Given the description of an element on the screen output the (x, y) to click on. 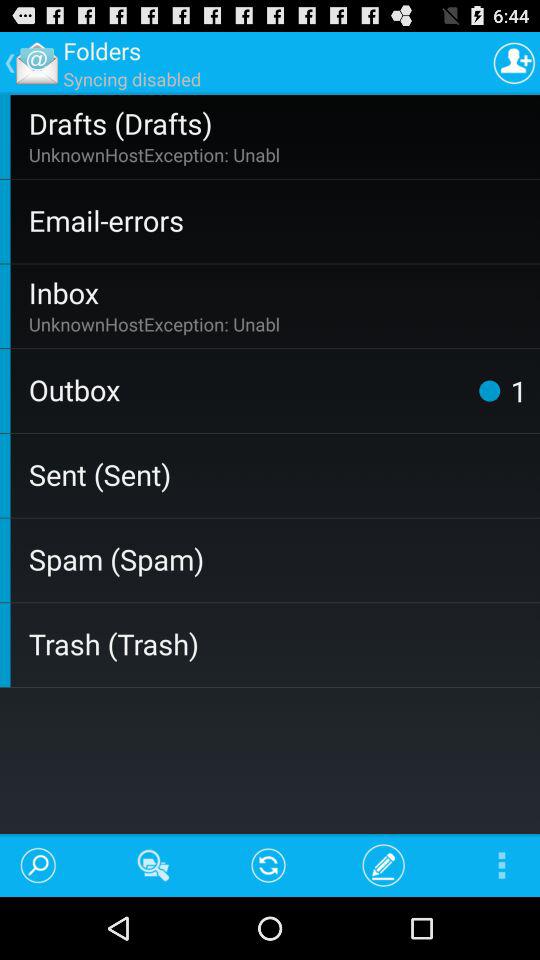
click on the second icon at bottom from left (153, 865)
select the number along with blue dot which is right to outbox (497, 390)
select the icon left to the menu button (383, 865)
